Given the description of an element on the screen output the (x, y) to click on. 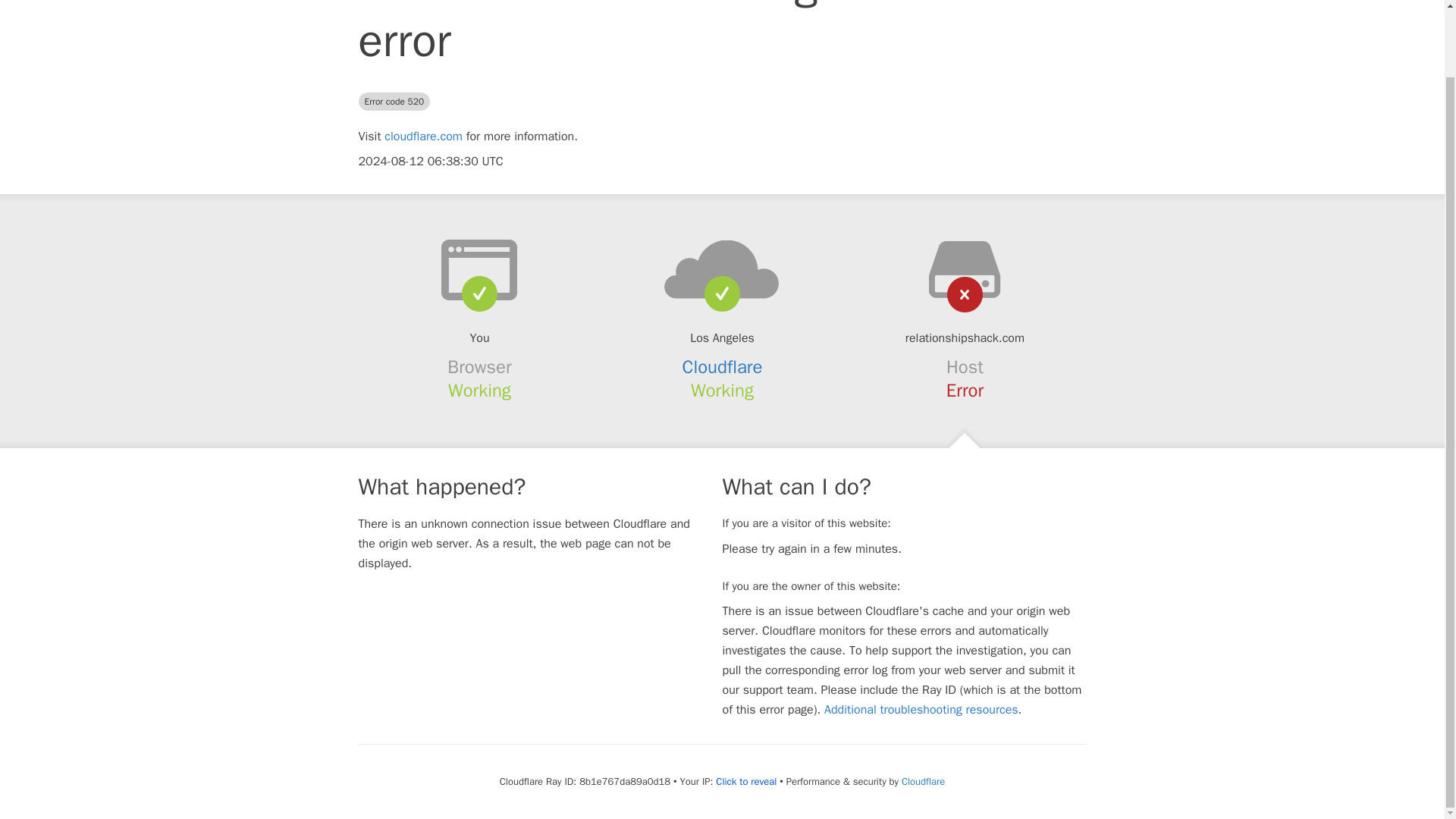
Click to reveal (746, 781)
Additional troubleshooting resources (920, 709)
Cloudflare (922, 780)
Cloudflare (722, 366)
cloudflare.com (423, 136)
